Given the description of an element on the screen output the (x, y) to click on. 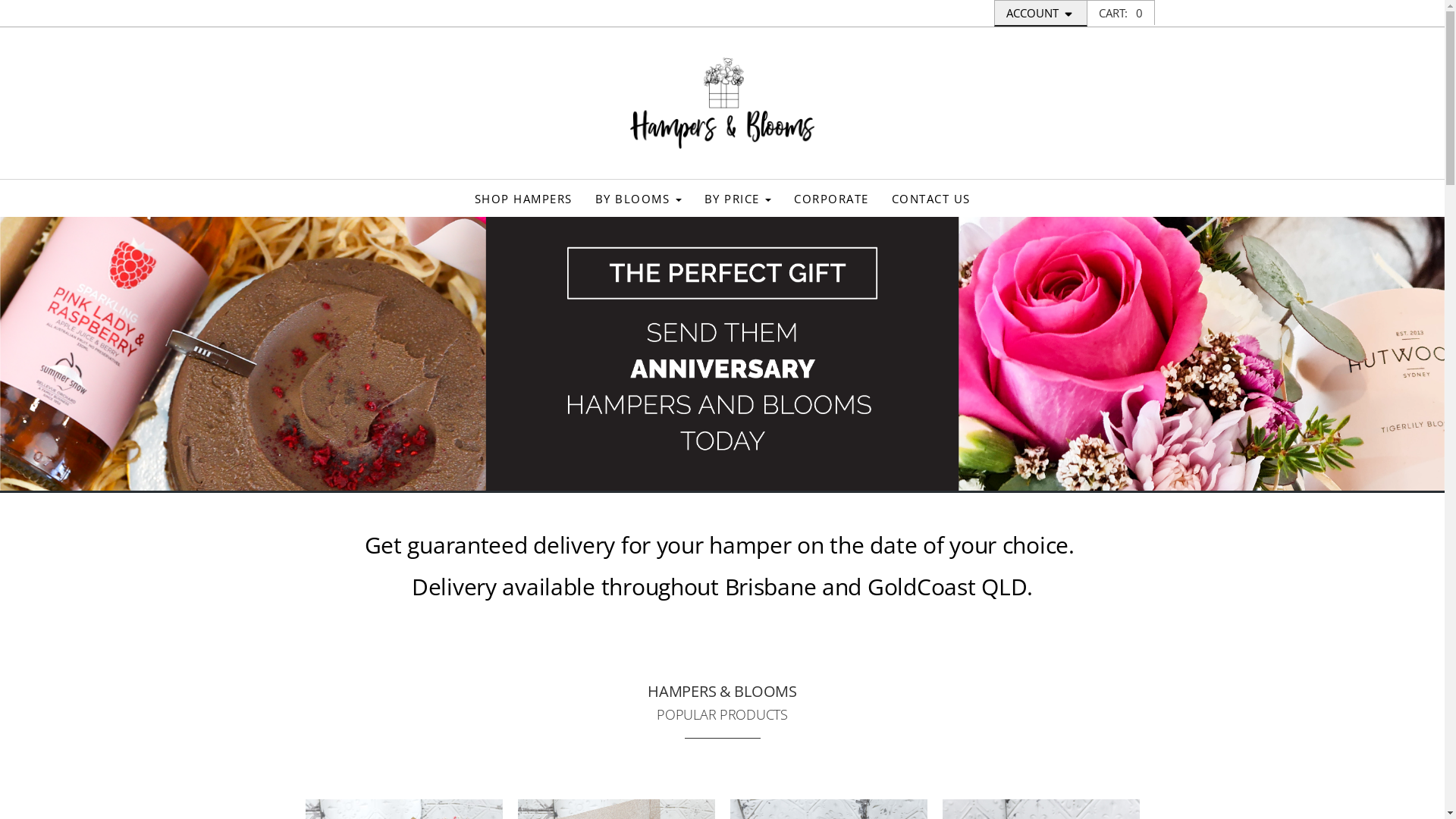
CORPORATE Element type: text (831, 198)
CONTACT US Element type: text (930, 198)
SHOP HAMPERS Element type: text (522, 198)
BY BLOOMS Element type: text (638, 198)
CART: 0 Element type: text (1120, 12)
BY PRICE Element type: text (738, 198)
ACCOUNT Element type: text (1040, 13)
